Given the description of an element on the screen output the (x, y) to click on. 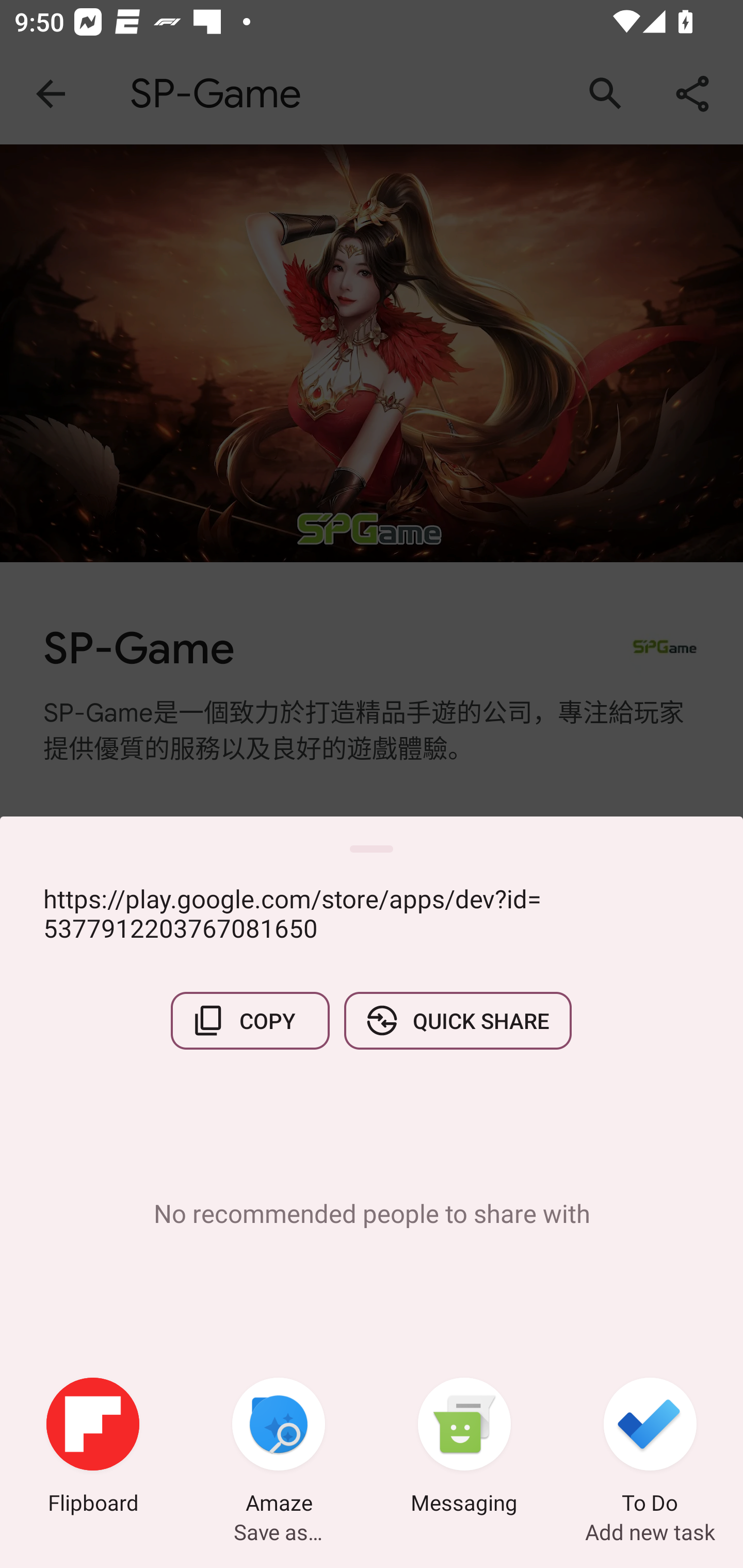
COPY (249, 1020)
QUICK SHARE (457, 1020)
Flipboard (92, 1448)
Amaze Save as… (278, 1448)
Messaging (464, 1448)
To Do Add new task (650, 1448)
